Given the description of an element on the screen output the (x, y) to click on. 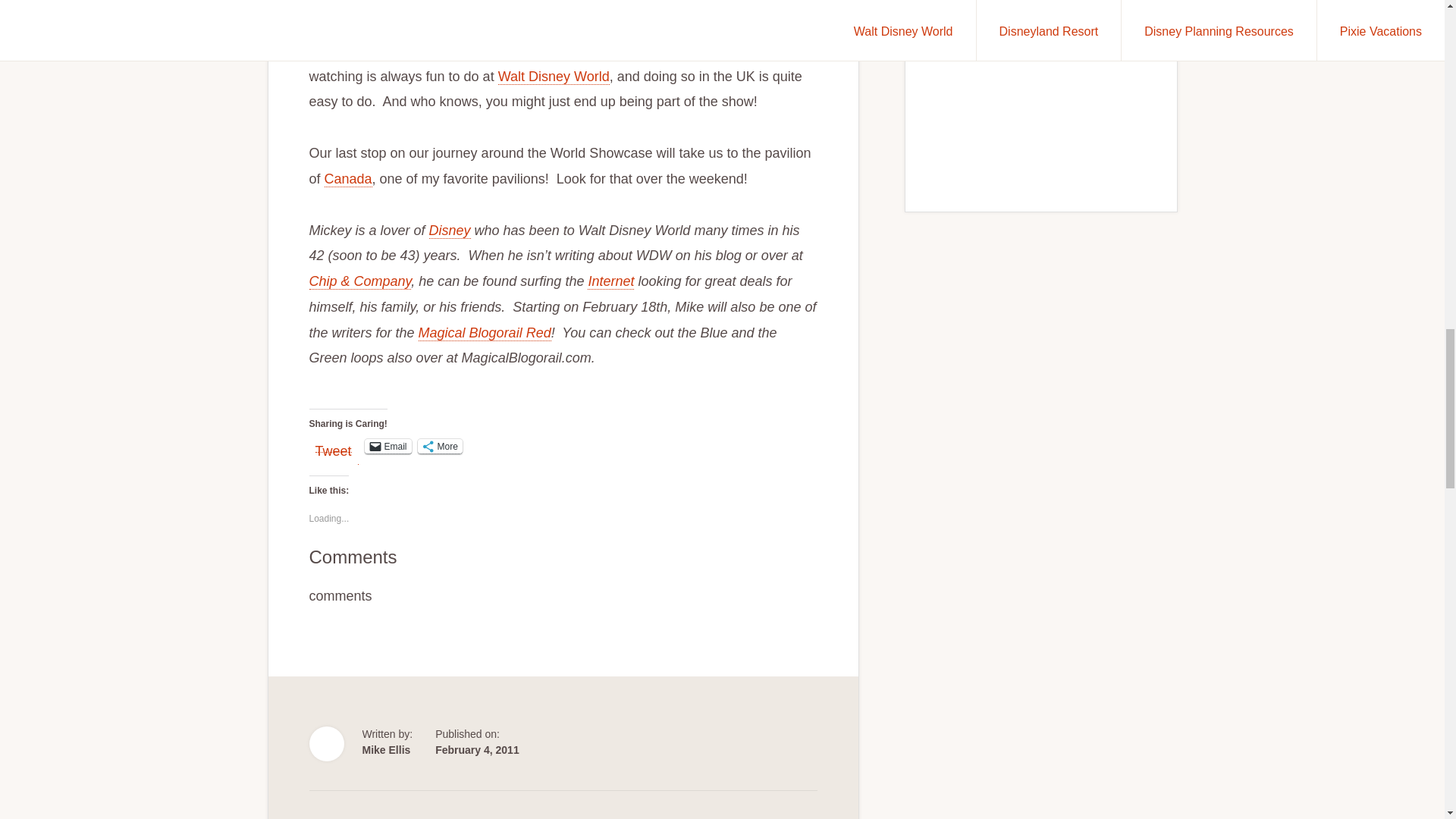
Click to email a link to a friend (388, 446)
The Walt Disney Company (449, 230)
Canada (348, 179)
Internet (610, 281)
Walt Disney World Resort (553, 76)
